Given the description of an element on the screen output the (x, y) to click on. 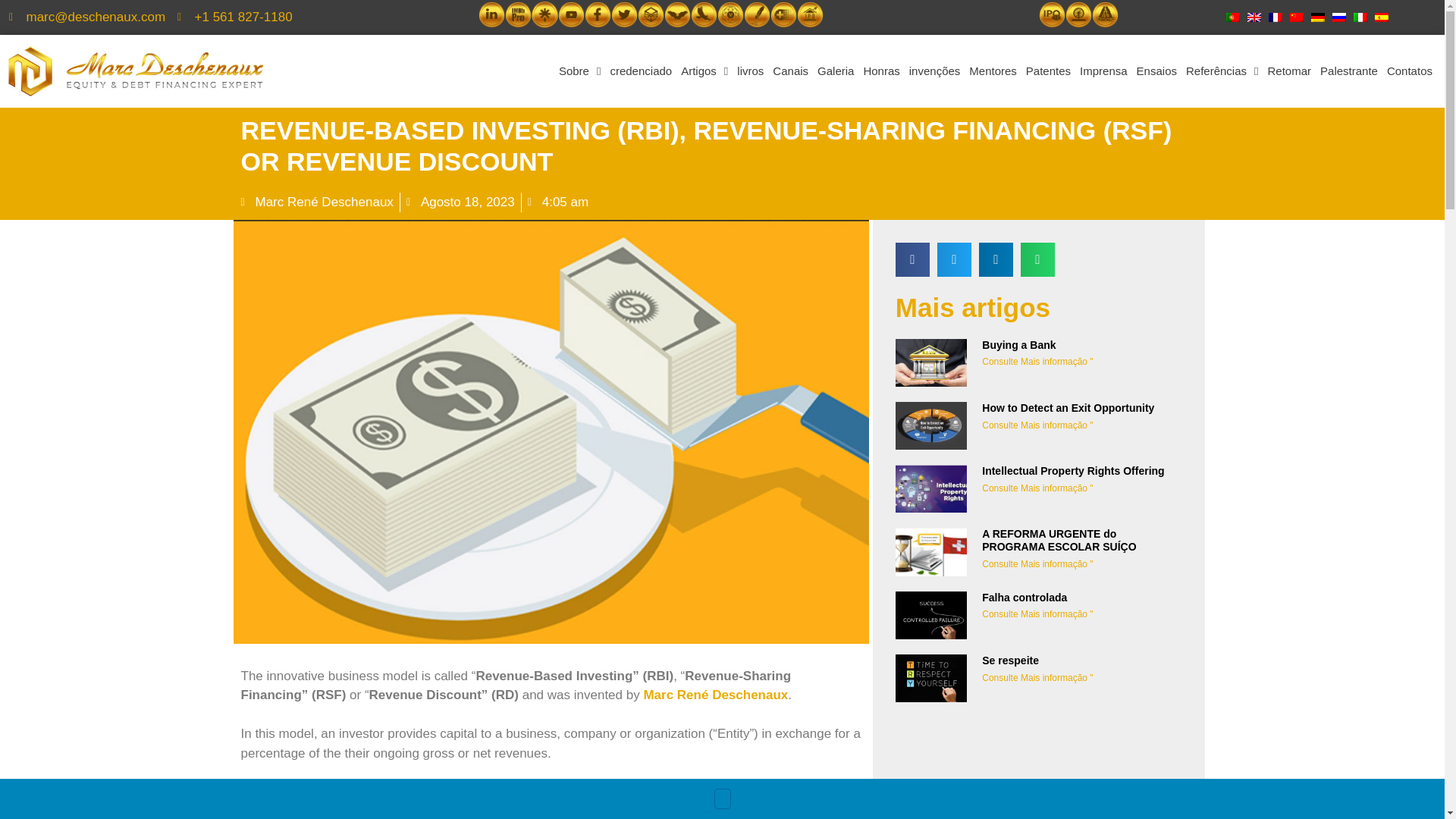
IMDb Pro (518, 14)
Linktree Profile - Marc Deschenaux (544, 14)
Cascata IPO (1052, 14)
Grupo de Negociadores (650, 14)
Perfil do Twitter - Marc Deschenaux (624, 14)
www.Deschenaux.com (757, 14)
Youtube - Marc Deschenaux Official (571, 14)
Instituto IPO (810, 14)
Perfil do Facebook - Marc Deschenaux (598, 14)
viveka (730, 14)
Perfil Linkedin - Marc Deschenaux (492, 14)
